Given the description of an element on the screen output the (x, y) to click on. 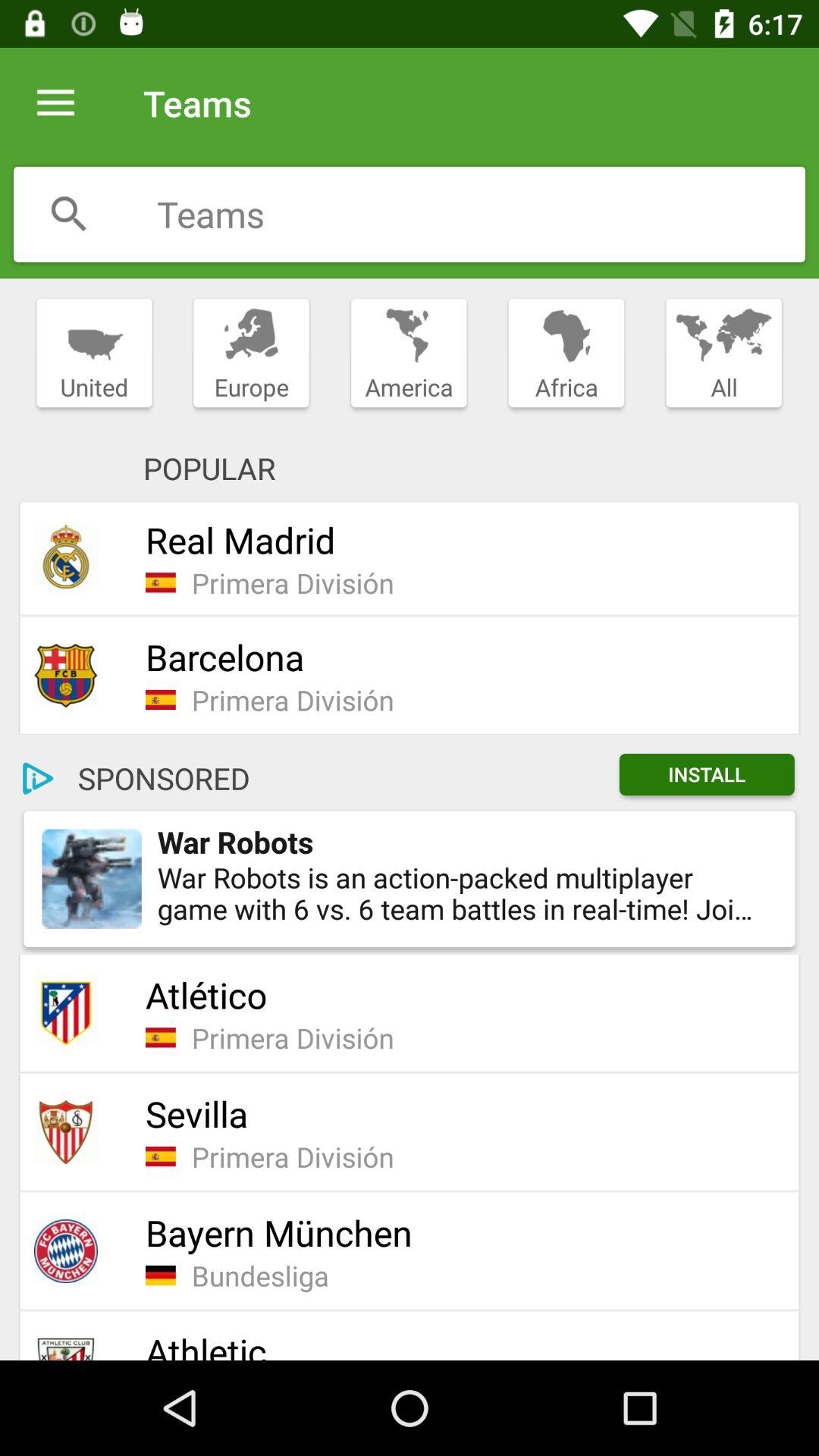
select the icon to the left of teams icon (55, 103)
